Given the description of an element on the screen output the (x, y) to click on. 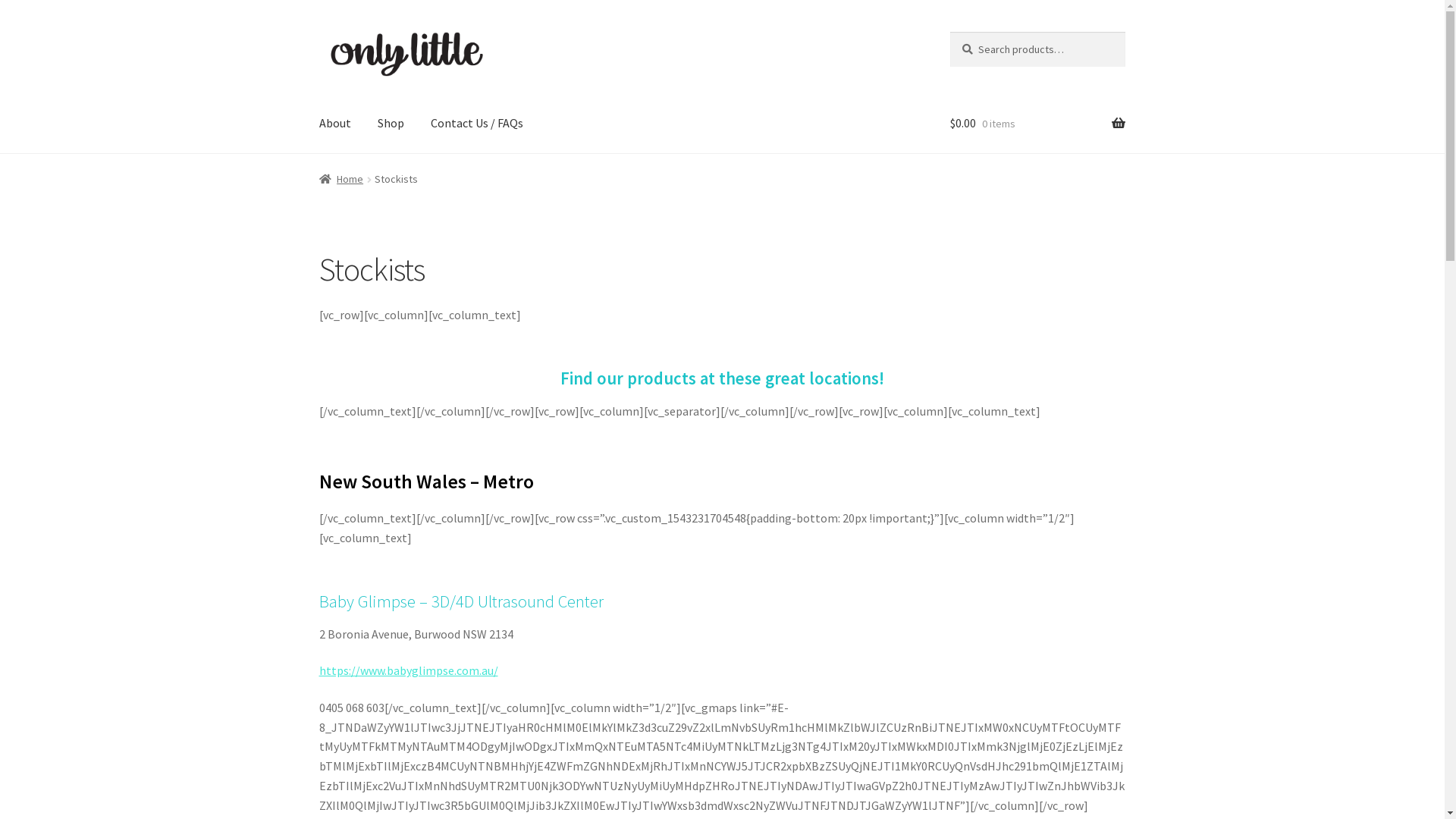
Search Element type: text (949, 31)
$0.00 0 items Element type: text (1037, 123)
Home Element type: text (341, 178)
Skip to navigation Element type: text (318, 31)
Shop Element type: text (390, 123)
https://www.babyglimpse.com.au/ Element type: text (408, 669)
Contact Us / FAQs Element type: text (476, 123)
About Element type: text (335, 123)
